Given the description of an element on the screen output the (x, y) to click on. 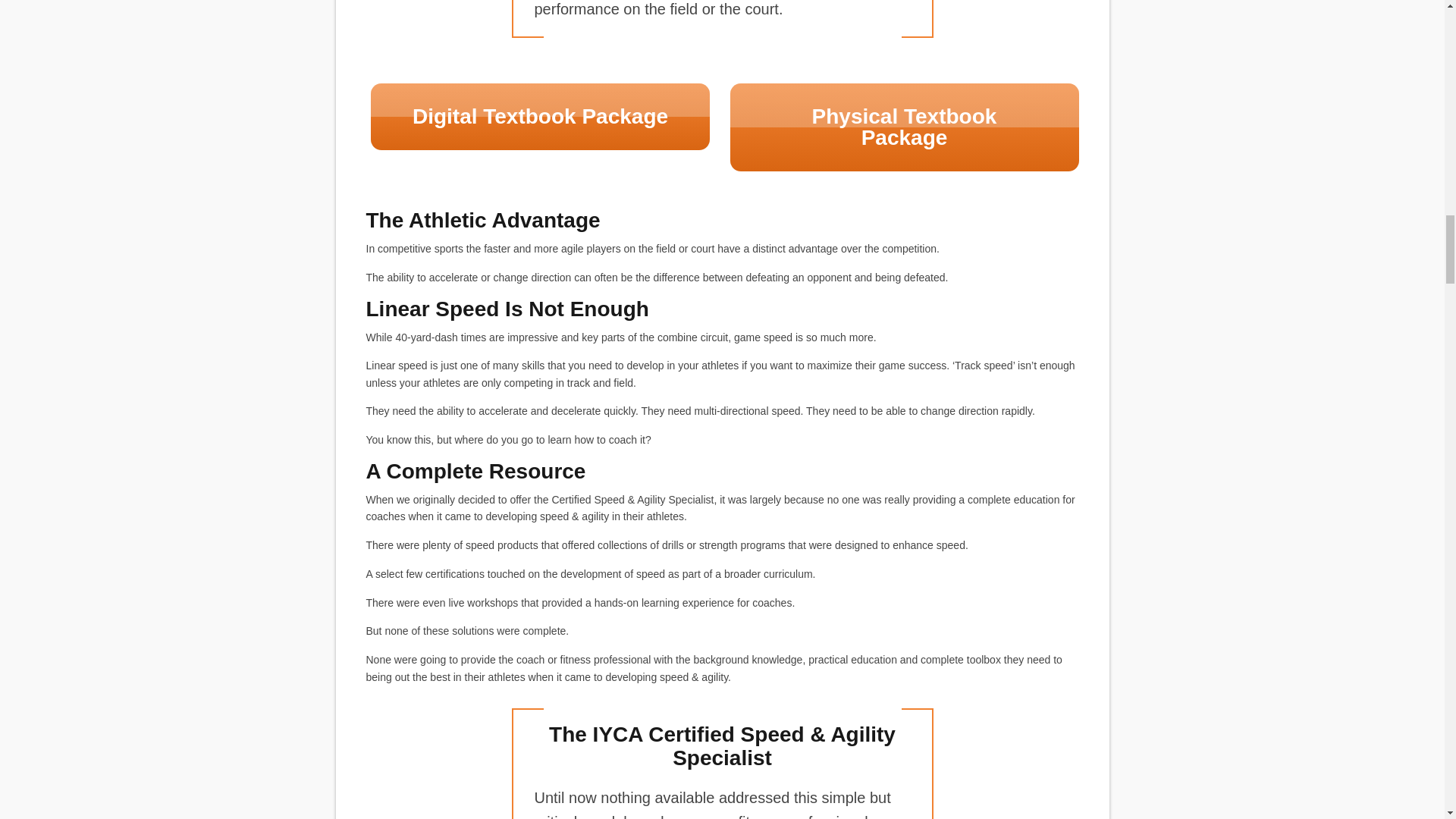
Physical Textbook Package (903, 127)
Digital Textbook Package (540, 116)
